Given the description of an element on the screen output the (x, y) to click on. 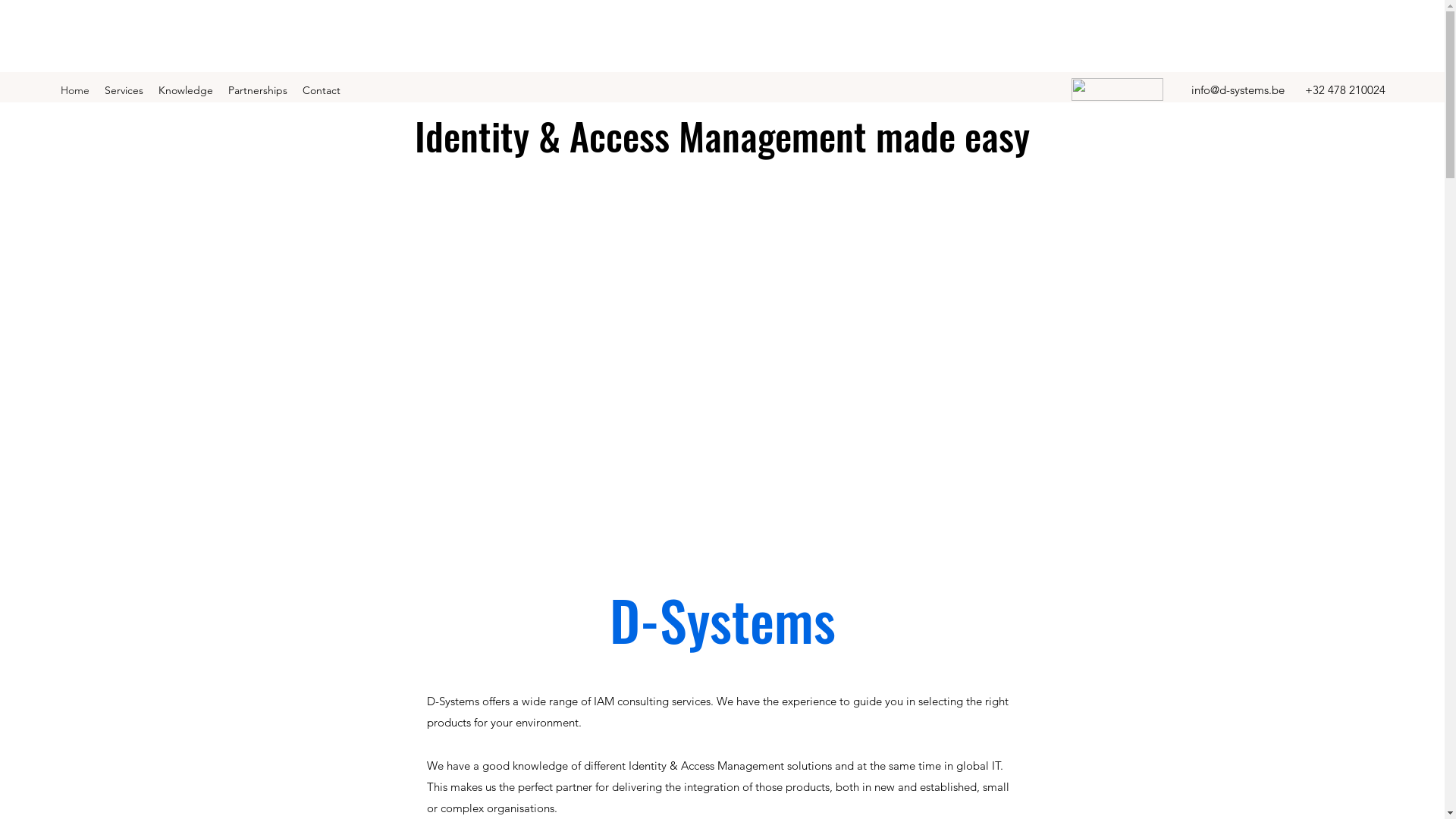
Services Element type: text (123, 89)
Home Element type: text (75, 89)
Knowledge Element type: text (185, 89)
Partnerships Element type: text (257, 89)
Dsystems_logo OK.png Element type: hover (1117, 89)
info@d-systems.be Element type: text (1237, 89)
Contact Element type: text (321, 89)
